Given the description of an element on the screen output the (x, y) to click on. 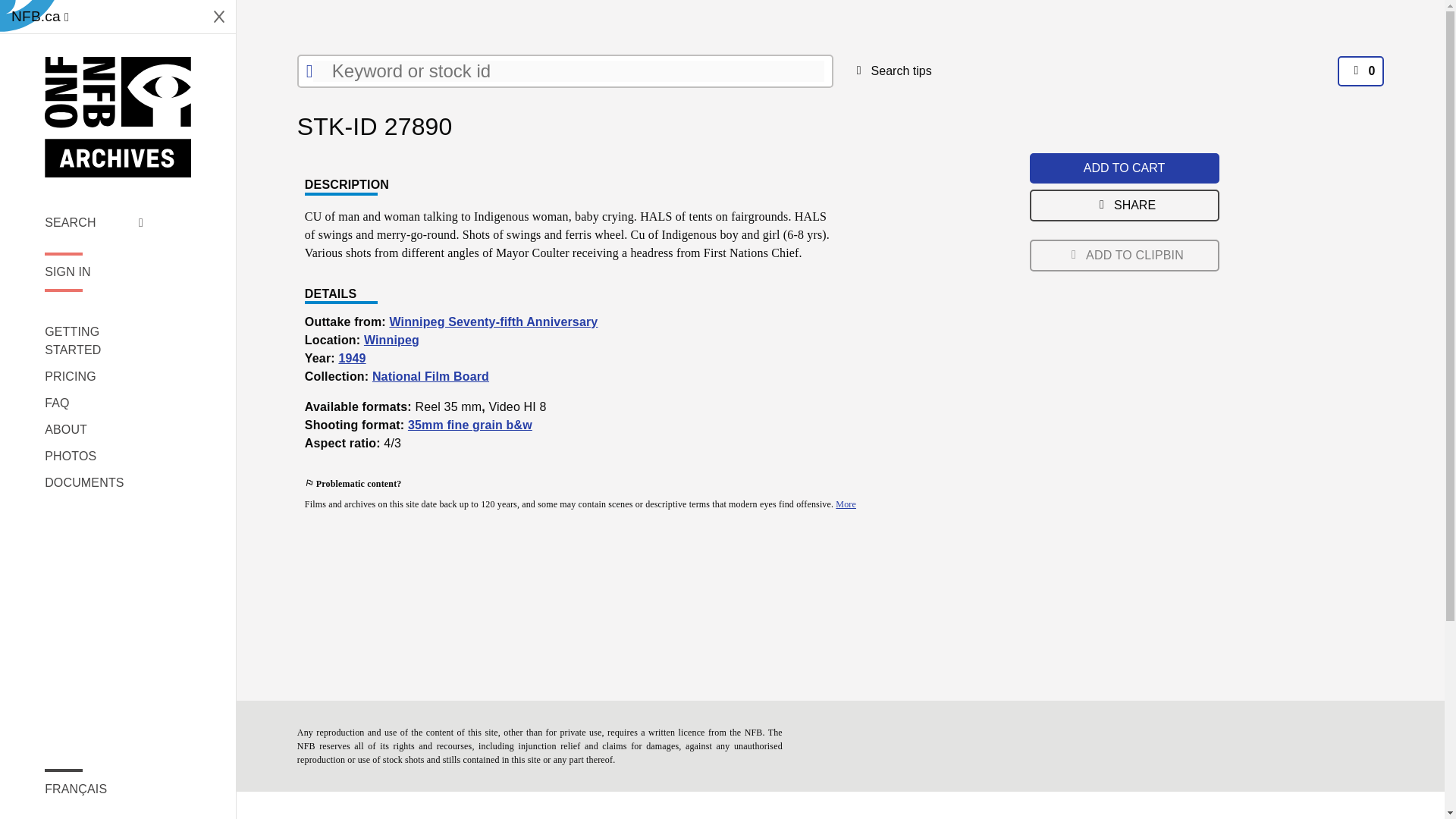
ADD TO CLIPBIN (1124, 255)
Watch films on NFB.ca (39, 16)
National Film Board (430, 376)
PHOTOS (93, 456)
PRICING (93, 376)
SEARCH (93, 222)
1949 (351, 358)
SHARE (1124, 205)
0 (1361, 71)
DOCUMENTS (93, 483)
Search tips (890, 71)
NFB.ca (39, 16)
SIGN IN (93, 271)
ABOUT (93, 429)
ADD TO CART (1124, 168)
